Given the description of an element on the screen output the (x, y) to click on. 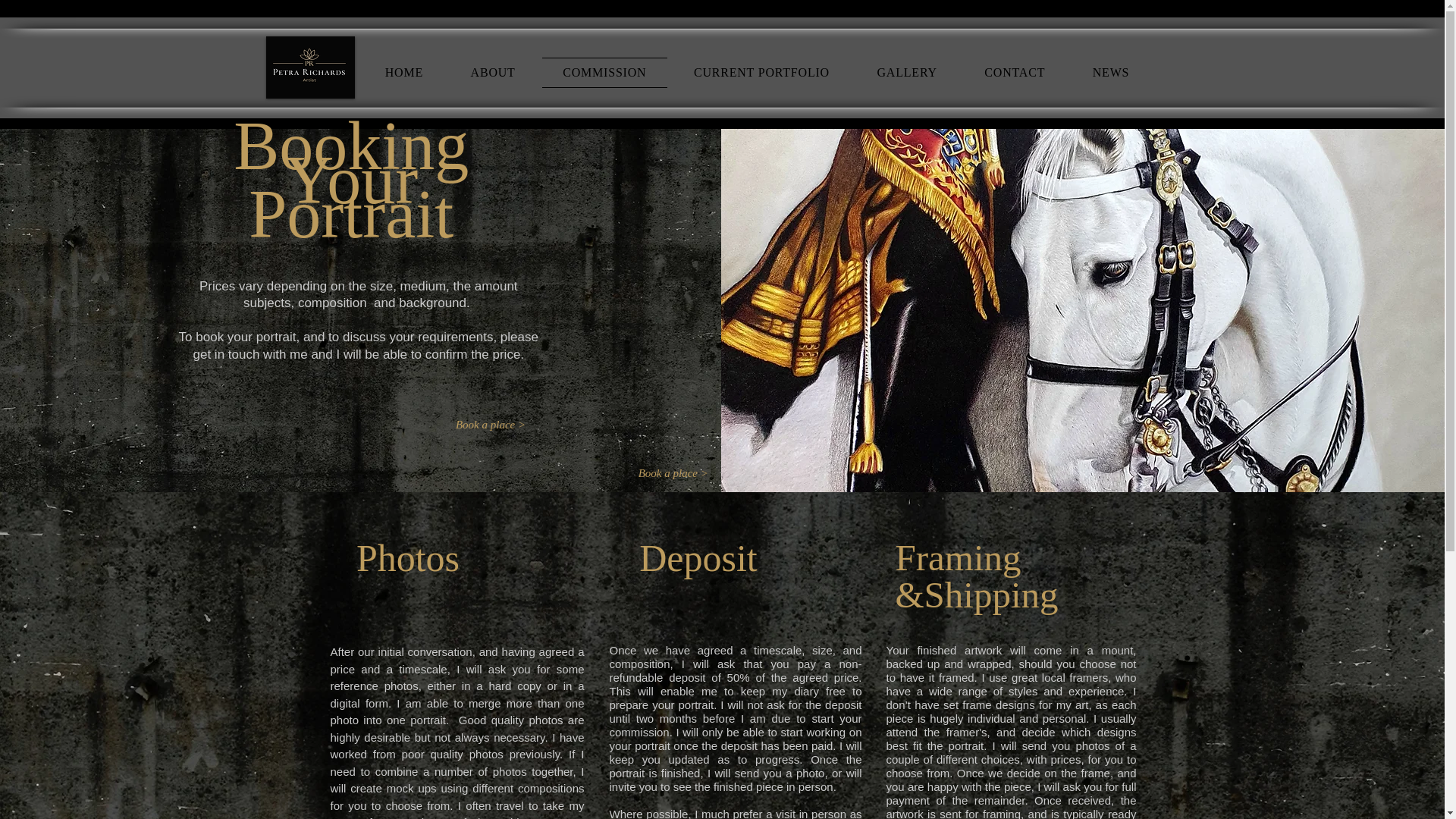
NEWS (1110, 72)
CURRENT PORTFOLIO (761, 72)
CONTACT (1014, 72)
GALLERY (907, 72)
ABOUT (492, 72)
COMMISSION (603, 72)
HOME (404, 72)
